Given the description of an element on the screen output the (x, y) to click on. 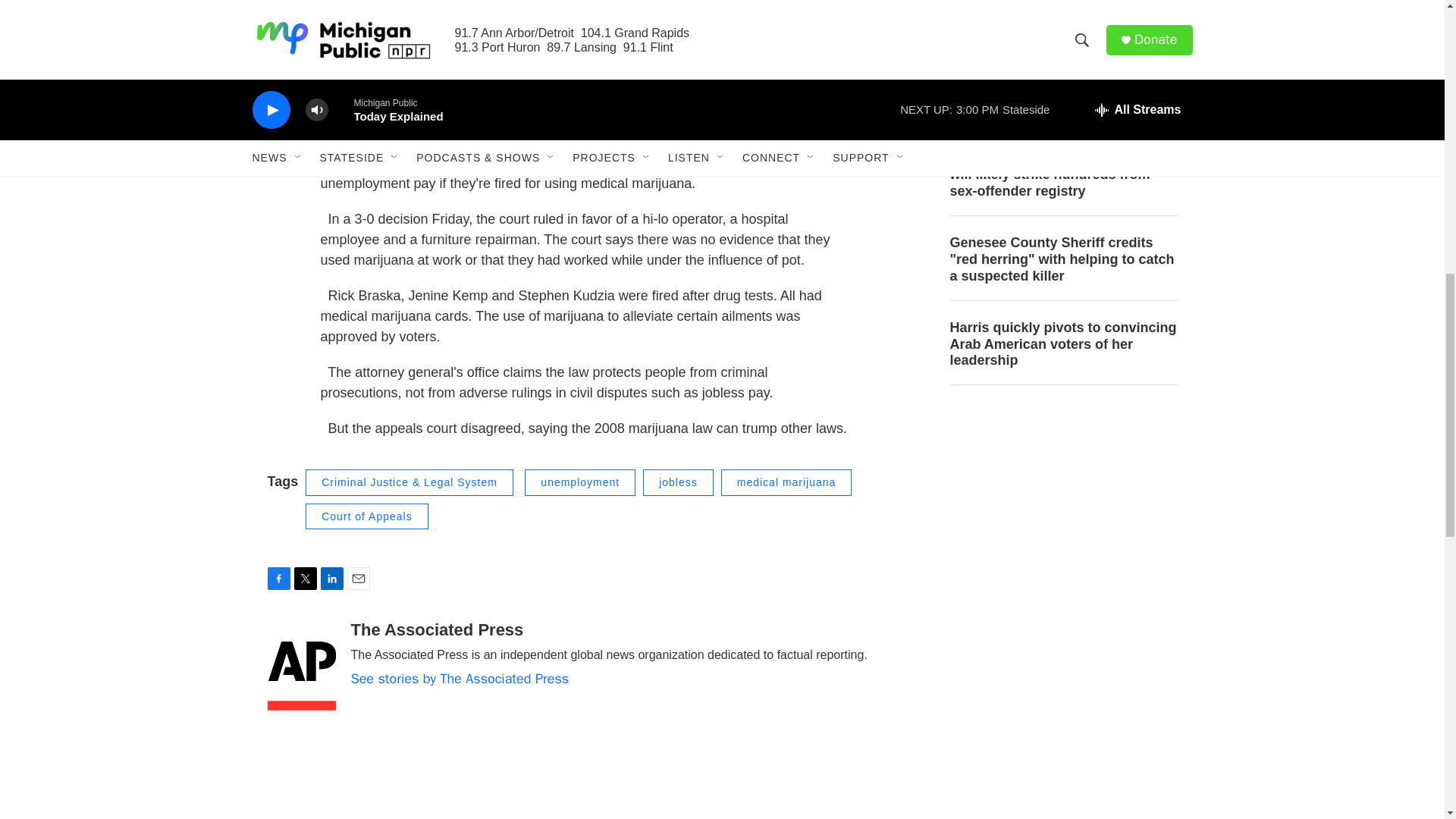
3rd party ad content (1062, 510)
3rd party ad content (1062, 727)
